Given the description of an element on the screen output the (x, y) to click on. 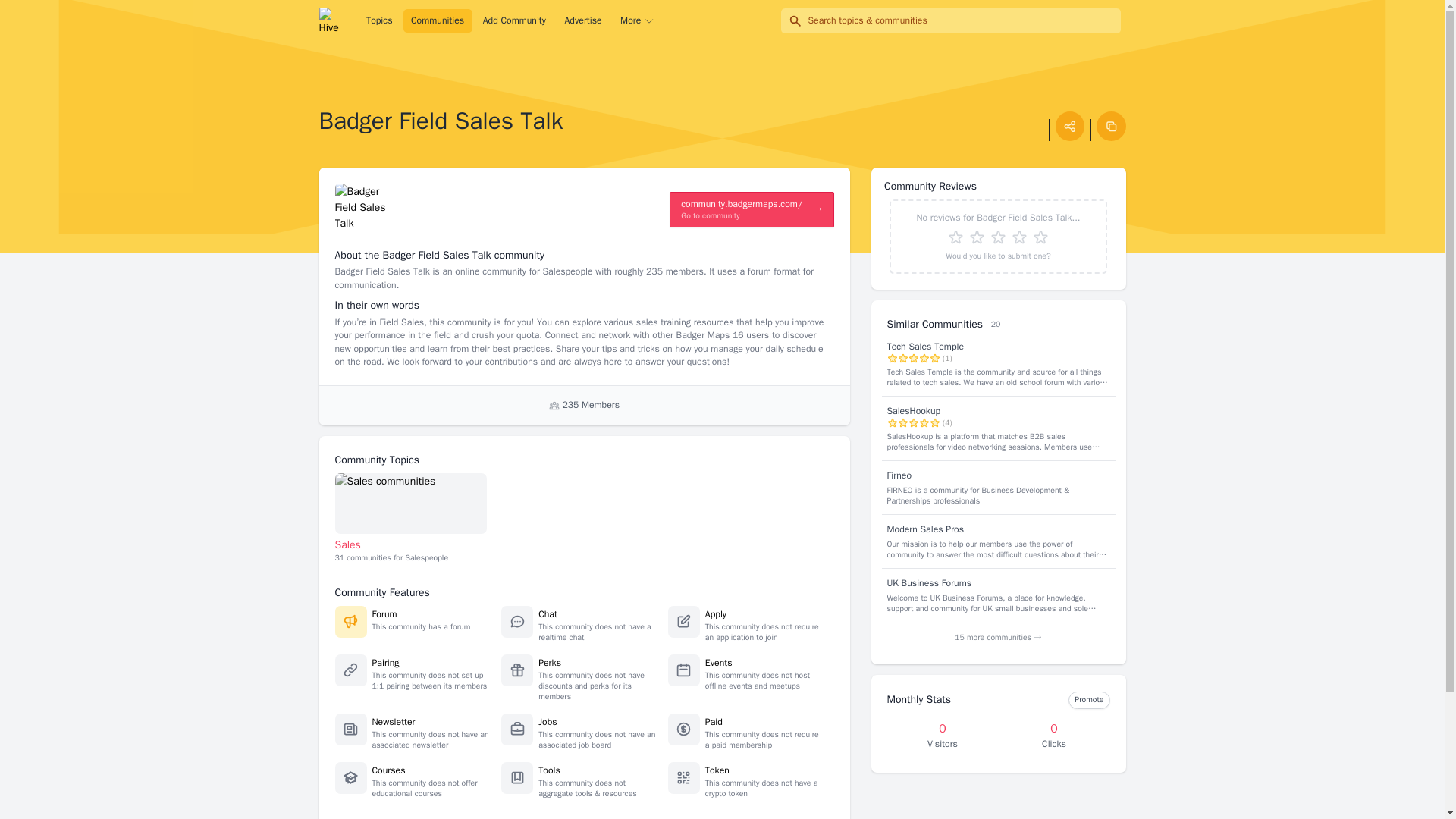
Perks (549, 662)
Topics (379, 21)
Events (718, 662)
Promote (1088, 700)
Jobs (547, 721)
Add Community (513, 21)
Forum (383, 613)
Chat (547, 613)
Token (716, 770)
Pairing (410, 518)
Communities (384, 662)
Courses (437, 21)
Tools (387, 770)
Advertise (549, 770)
